Given the description of an element on the screen output the (x, y) to click on. 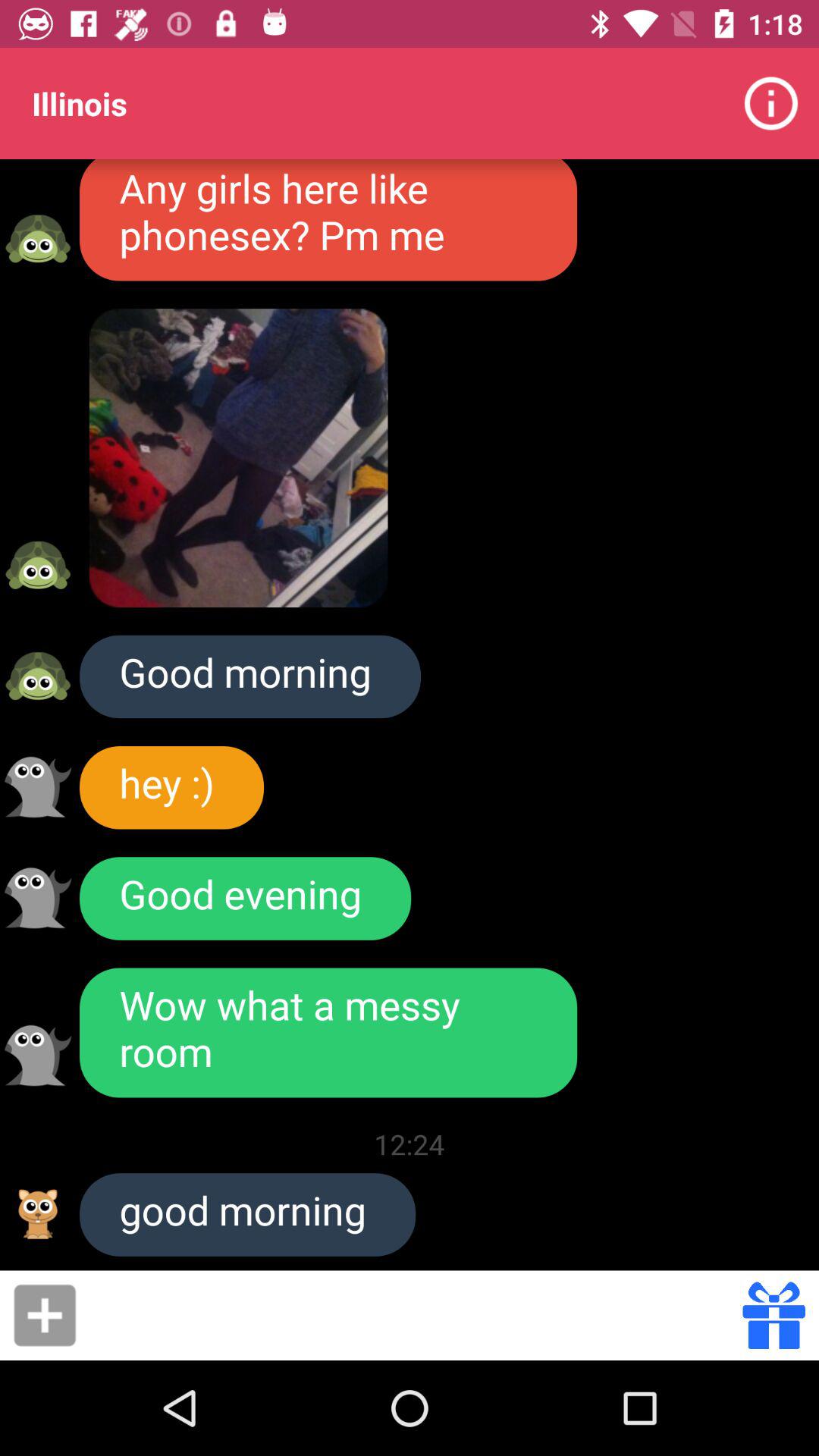
switch to select (38, 1055)
